Given the description of an element on the screen output the (x, y) to click on. 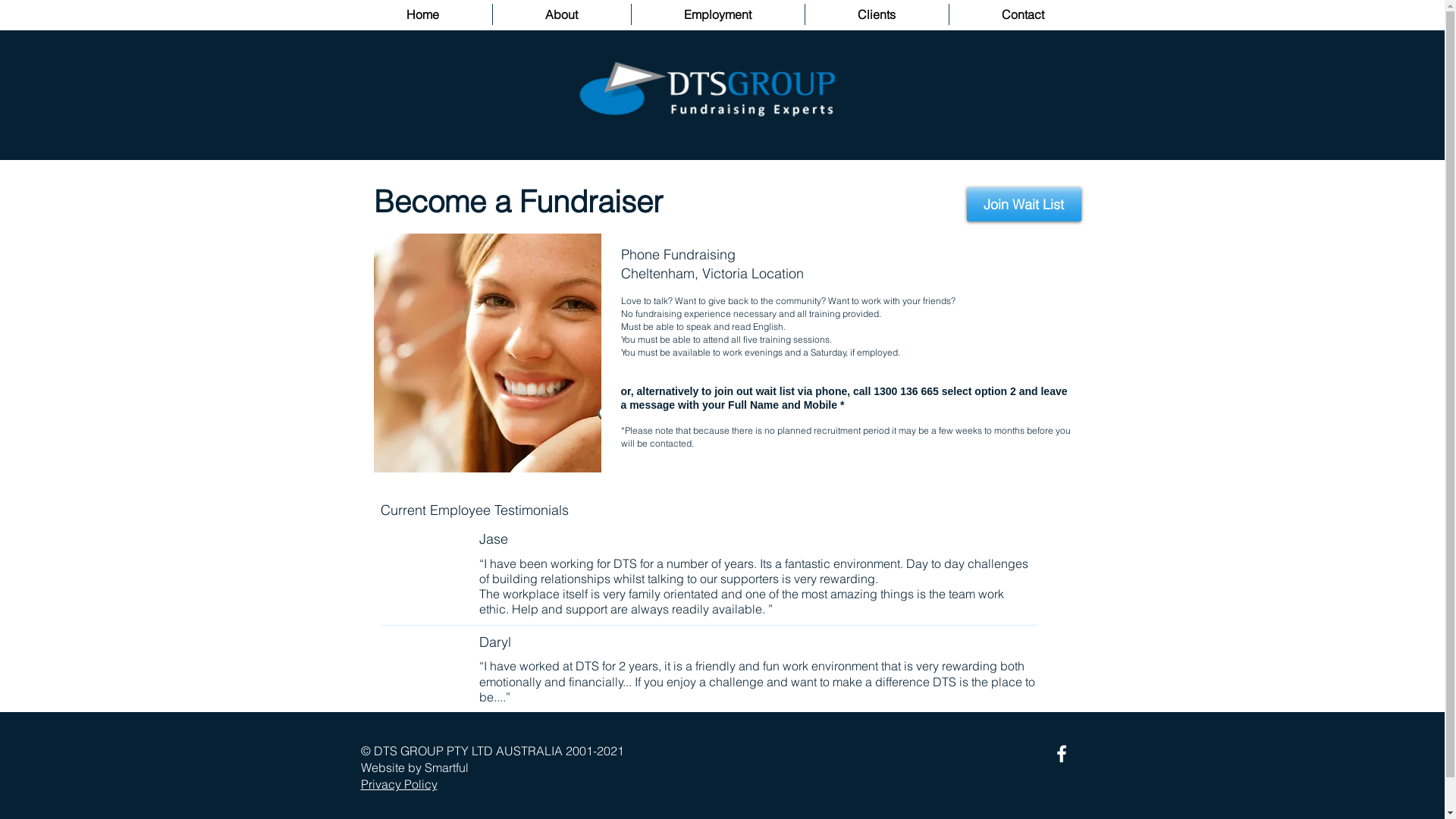
Privacy Policy Element type: text (398, 783)
About Element type: text (561, 14)
Employment Element type: text (716, 14)
Clients Element type: text (876, 14)
Contact Element type: text (1022, 14)
Join Wait List Element type: text (1023, 204)
Smartful Element type: text (446, 767)
Fundraising Jobs Element type: hover (486, 352)
Home Element type: text (422, 14)
